Given the description of an element on the screen output the (x, y) to click on. 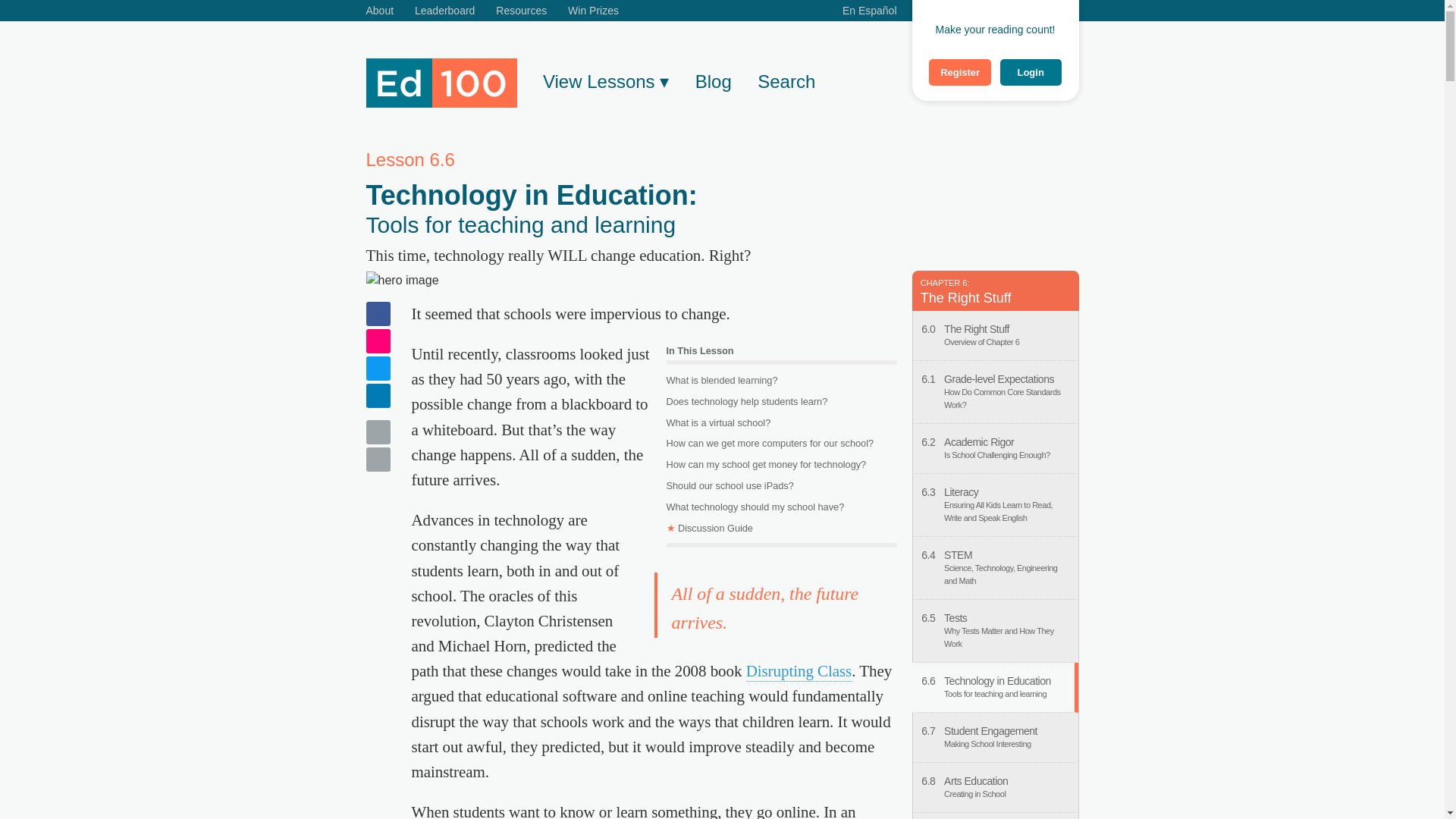
Article by Christensen and Horn on Edutopia (798, 671)
Visited Lesson (994, 687)
